Given the description of an element on the screen output the (x, y) to click on. 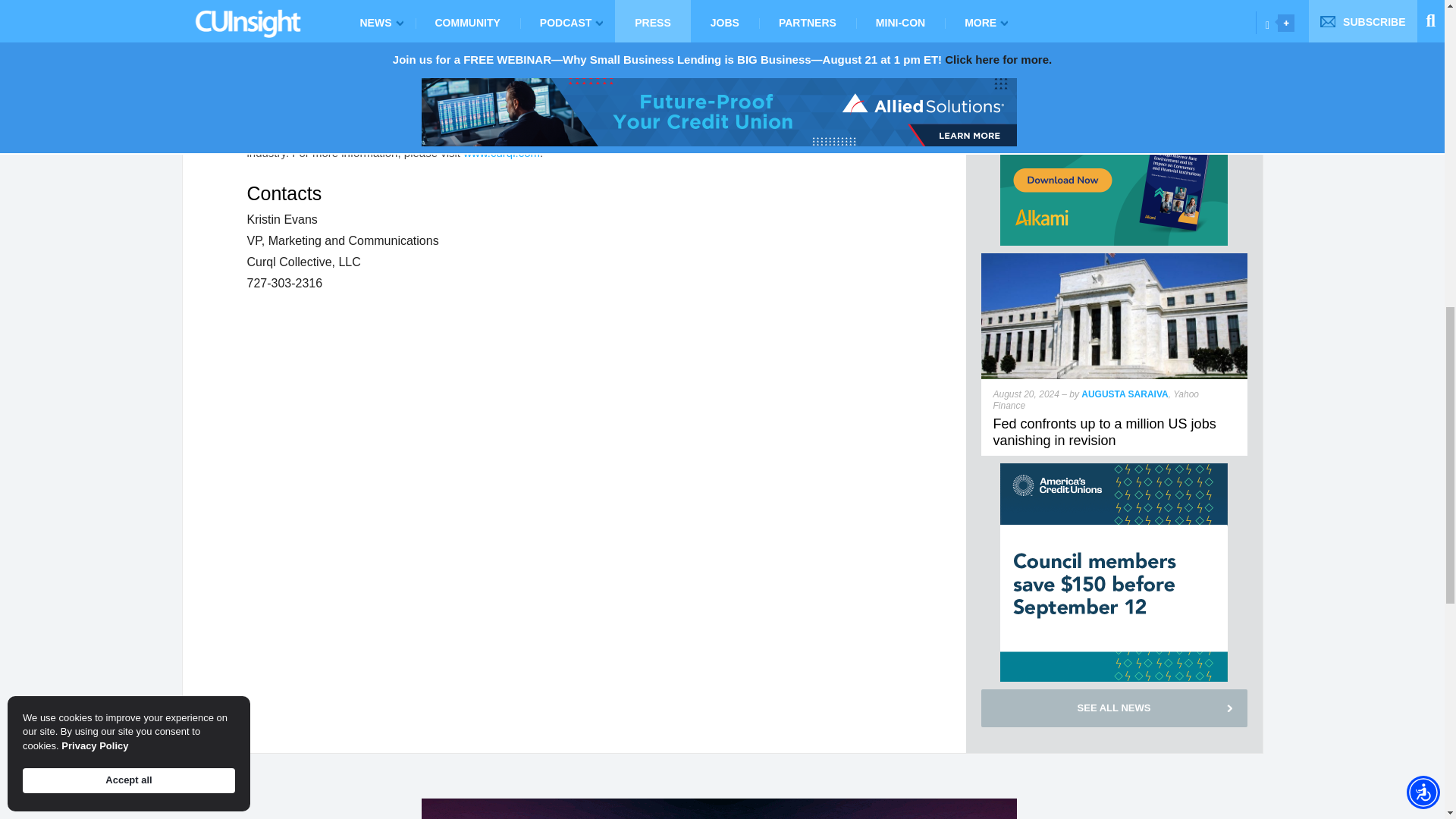
Fed confronts up to a million US jobs vanishing in revision (1114, 259)
Fed confronts up to a million US jobs vanishing in revision (1103, 431)
